Given the description of an element on the screen output the (x, y) to click on. 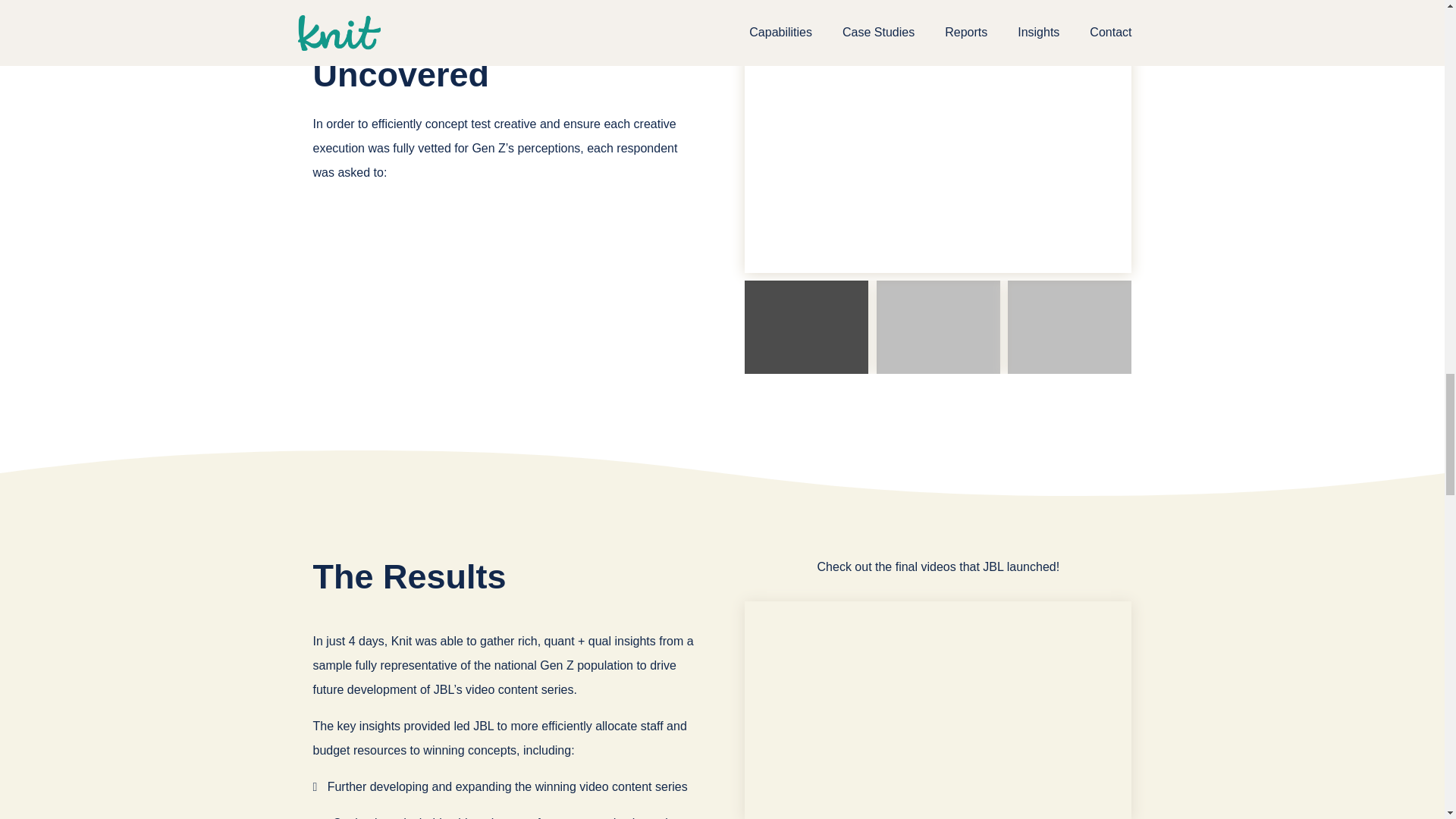
JBL   Sonic Stories  Giannis (937, 163)
JBL   Sonic Stories  Giannis (937, 710)
